Given the description of an element on the screen output the (x, y) to click on. 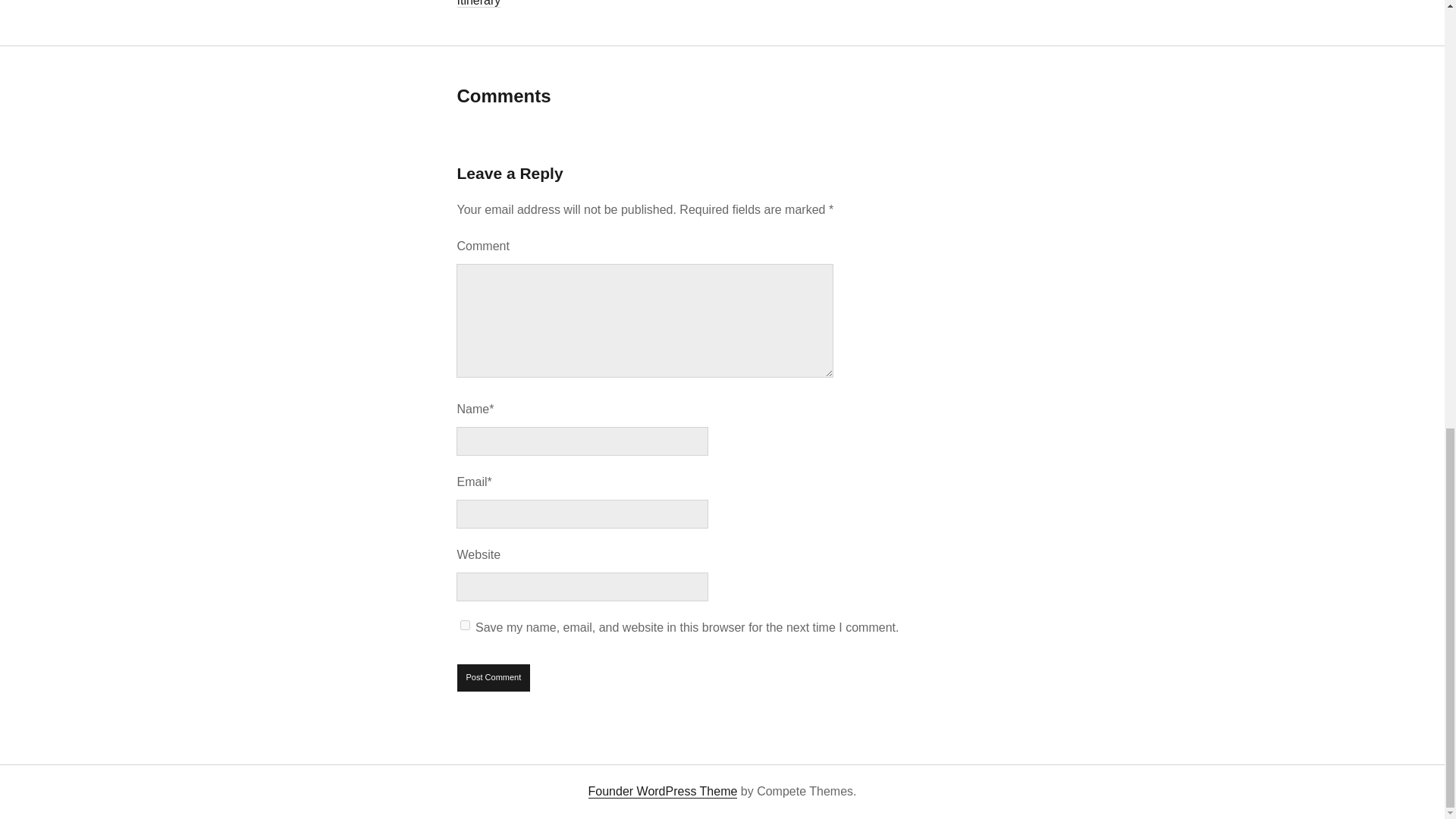
yes (465, 624)
Post Comment (494, 677)
